Given the description of an element on the screen output the (x, y) to click on. 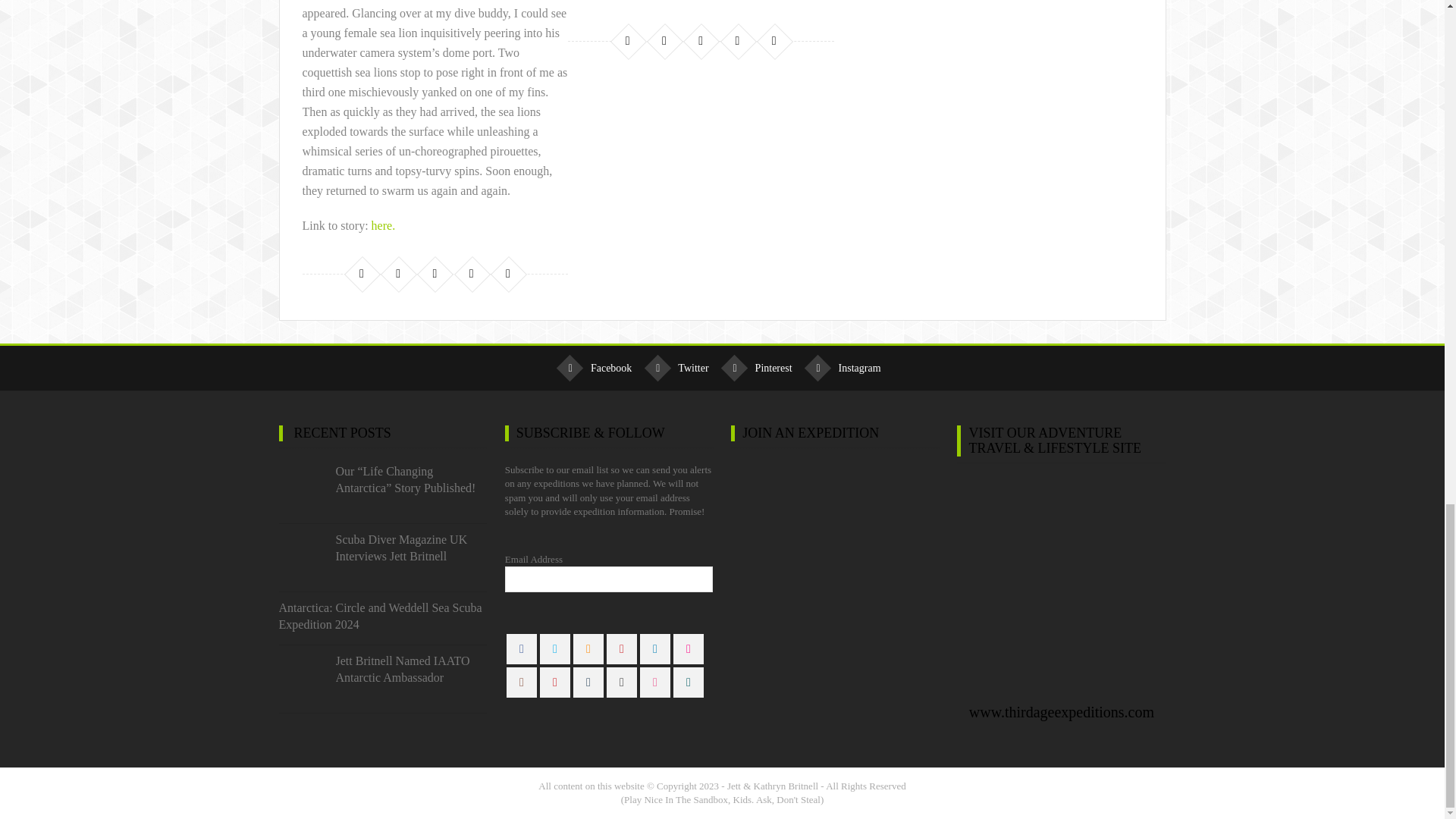
Share on Pinterest (737, 40)
Share on Facebook (627, 40)
Share on Facebook (361, 273)
Share on Twitter (664, 40)
Send this article to a friend! (507, 273)
Share on Pinterest (471, 273)
Share on Twitter (397, 273)
Share on LinkedIn (434, 273)
Share on LinkedIn (700, 40)
Send this article to a friend! (773, 40)
